Given the description of an element on the screen output the (x, y) to click on. 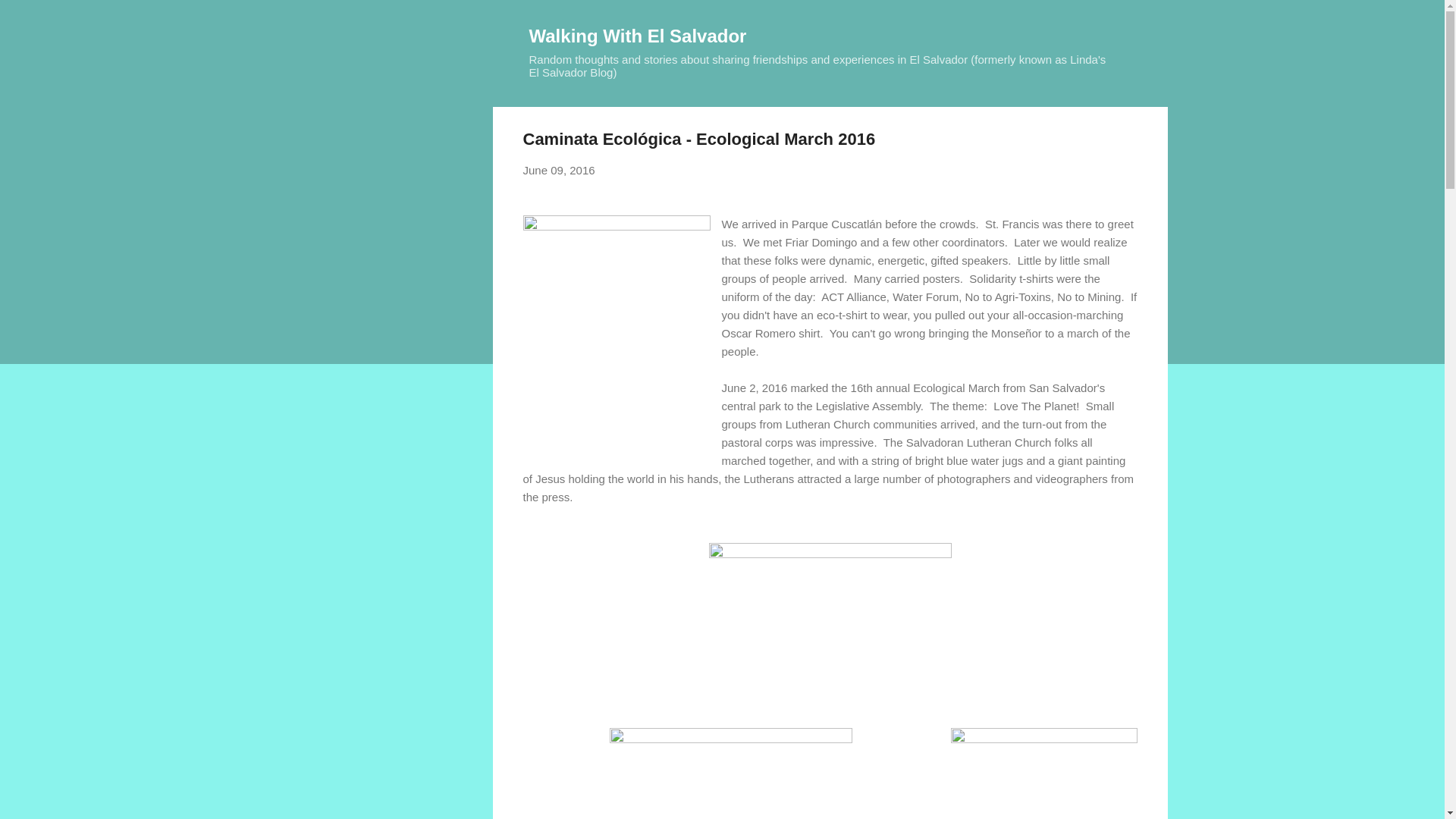
Walking With El Salvador (637, 35)
Search (29, 18)
permanent link (558, 169)
June 09, 2016 (558, 169)
